Given the description of an element on the screen output the (x, y) to click on. 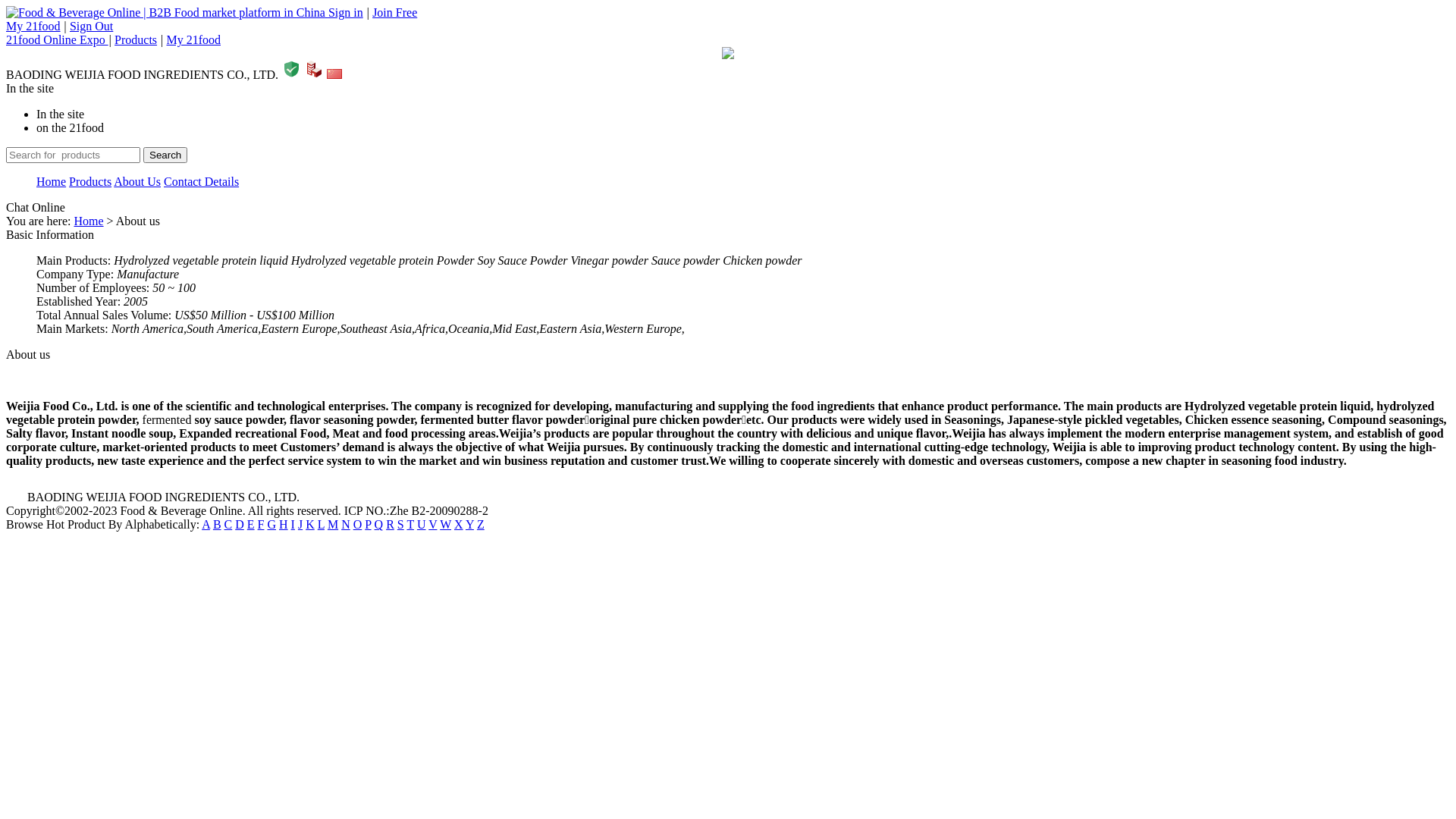
Y Element type: text (469, 523)
Products Element type: text (90, 181)
Home Element type: text (50, 181)
E Element type: text (250, 523)
Contact Details Element type: text (200, 181)
D Element type: text (239, 523)
R Element type: text (389, 523)
I Element type: text (292, 523)
N Element type: text (345, 523)
Home Element type: text (88, 220)
U Element type: text (421, 523)
My 21food Element type: text (33, 25)
About Us Element type: text (136, 181)
V Element type: text (432, 523)
S Element type: text (400, 523)
C Element type: text (228, 523)
Join Free Element type: text (394, 12)
T Element type: text (409, 523)
Products Element type: text (135, 39)
Sign Out Element type: text (90, 25)
L Element type: text (320, 523)
M Element type: text (332, 523)
Z Element type: text (480, 523)
B Element type: text (217, 523)
F Element type: text (260, 523)
Sign in Element type: text (345, 12)
W Element type: text (445, 523)
G Element type: text (271, 523)
X Element type: text (458, 523)
21food Online Expo Element type: text (57, 39)
O Element type: text (357, 523)
K Element type: text (309, 523)
My 21food Element type: text (193, 39)
J Element type: text (300, 523)
Q Element type: text (378, 523)
A Element type: text (205, 523)
P Element type: text (367, 523)
H Element type: text (283, 523)
Search Element type: text (165, 155)
